Given the description of an element on the screen output the (x, y) to click on. 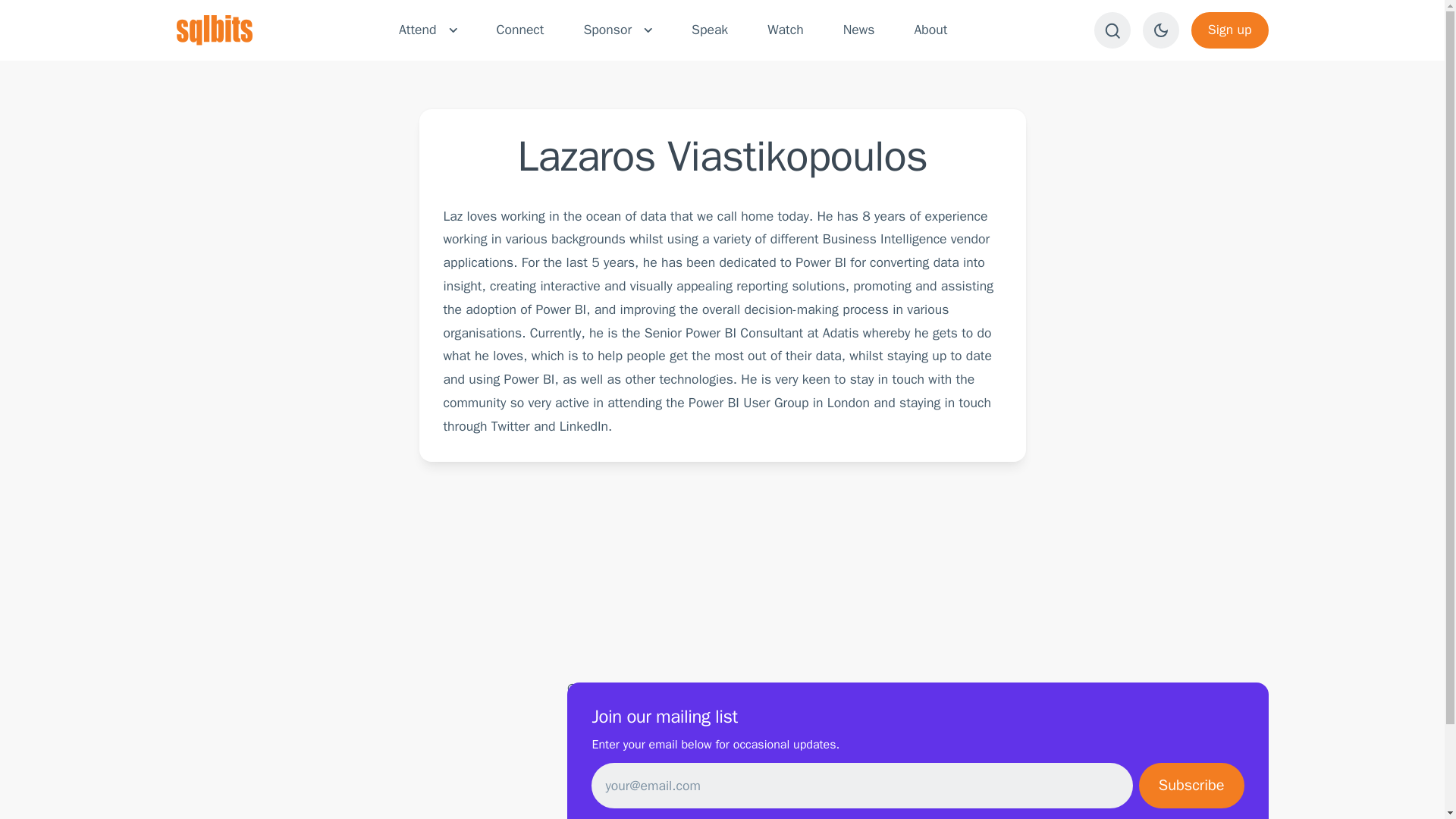
Sign up (1229, 30)
Watch (785, 30)
News (859, 30)
iqu4gohbyw (709, 688)
Connect (520, 30)
Speak (709, 30)
About (929, 30)
